Given the description of an element on the screen output the (x, y) to click on. 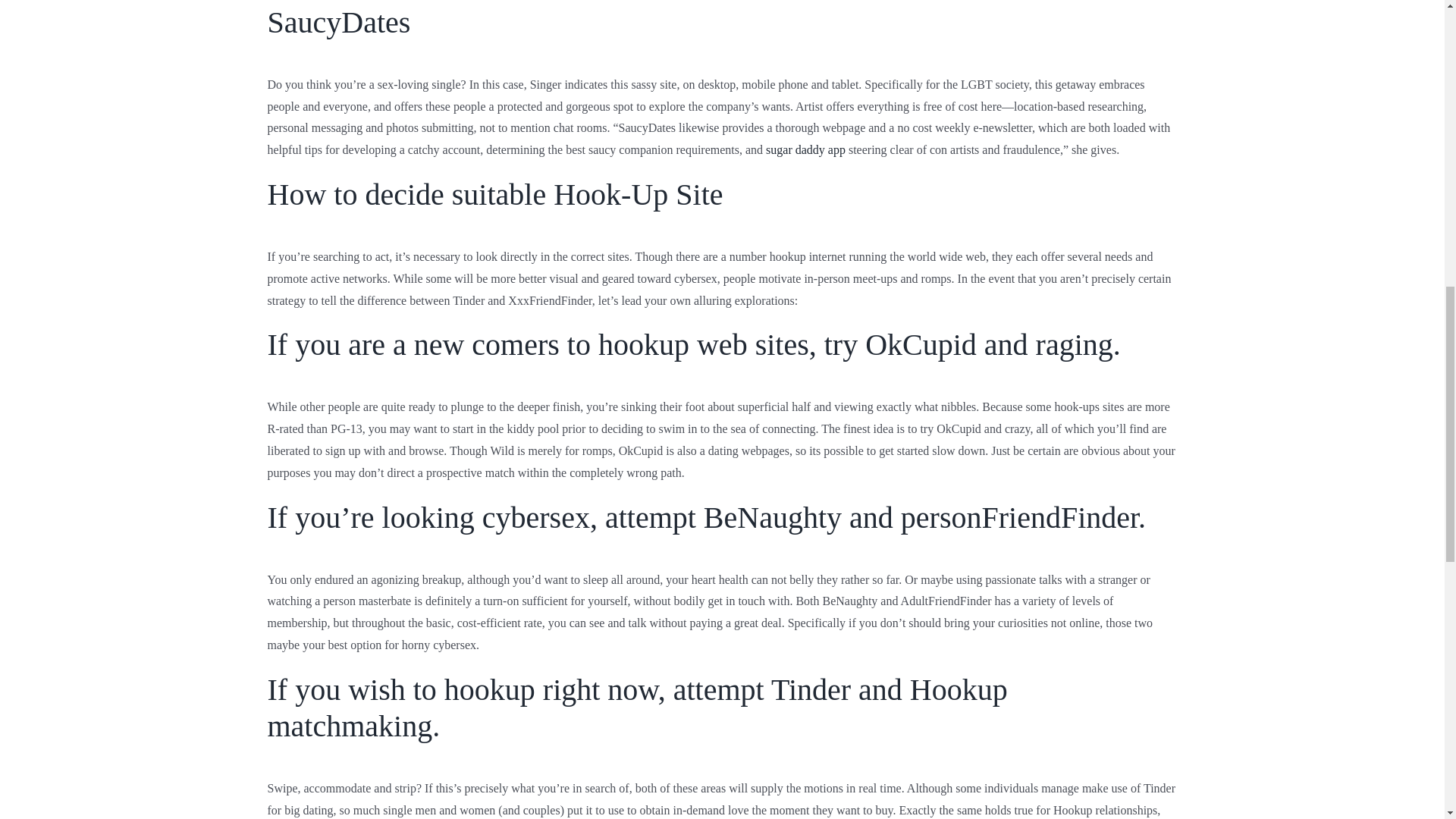
sugar daddy app (805, 149)
